Given the description of an element on the screen output the (x, y) to click on. 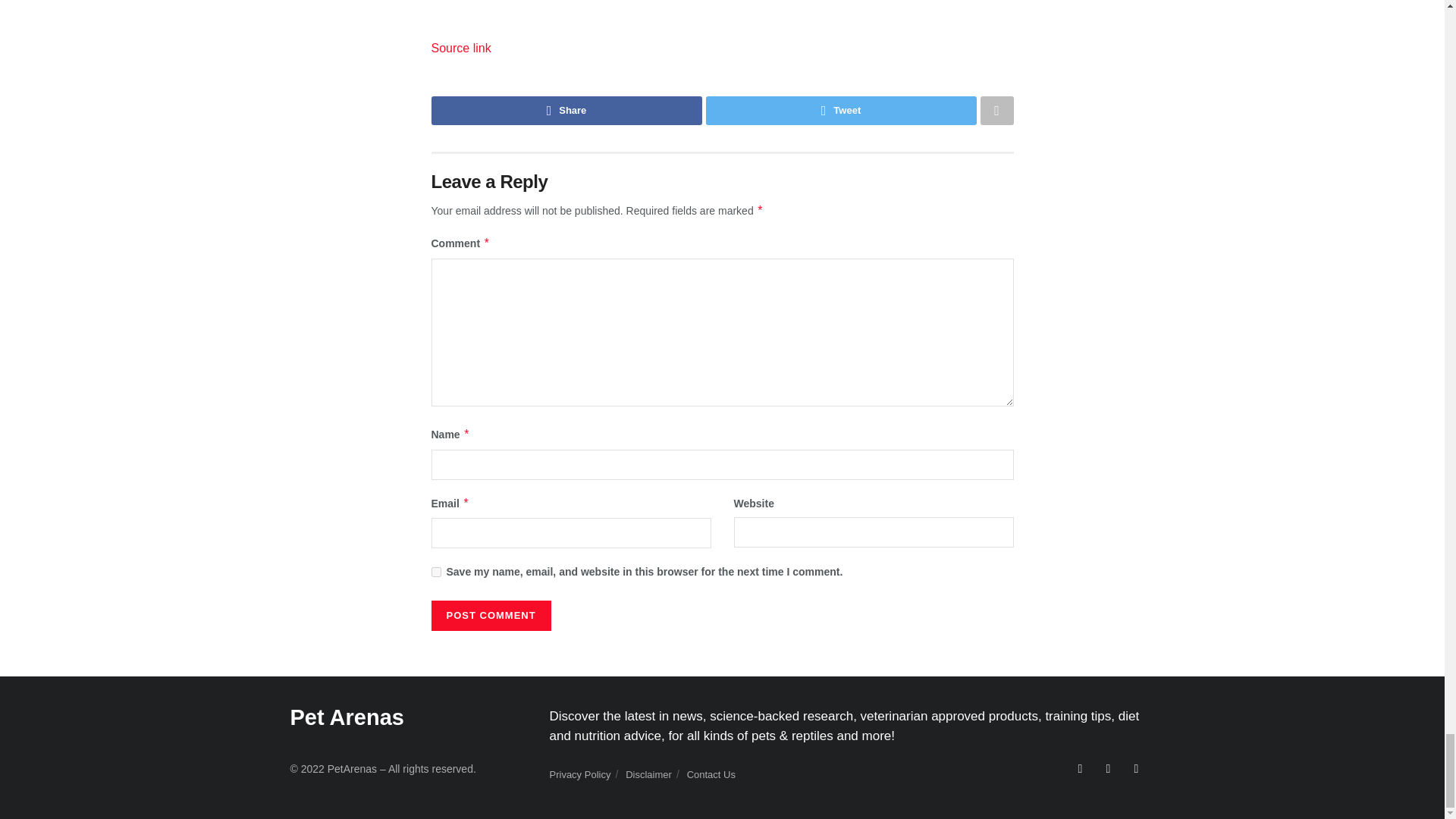
Share (565, 110)
Source link (460, 47)
yes (435, 572)
Post Comment (490, 615)
Tweet (839, 110)
